Given the description of an element on the screen output the (x, y) to click on. 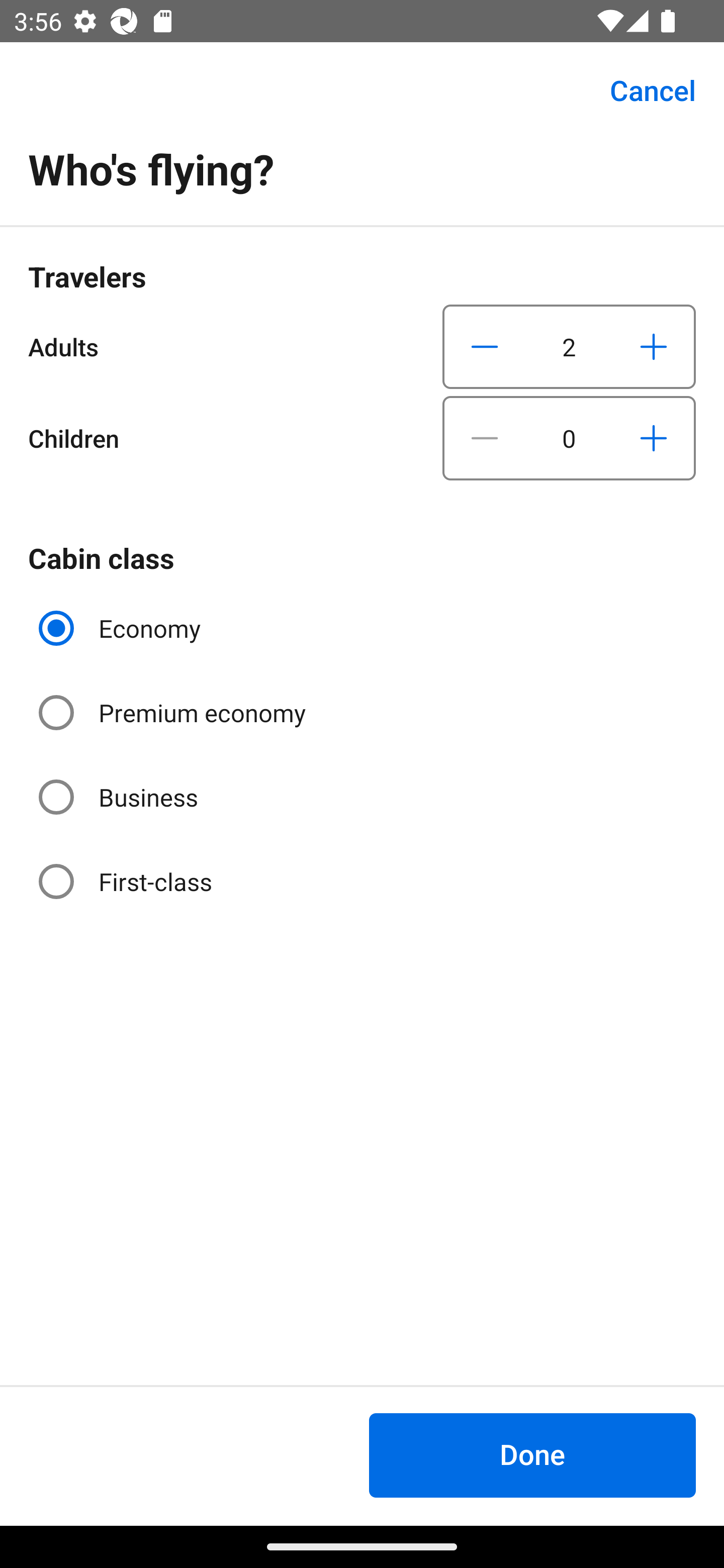
Cancel (641, 90)
Decrease (484, 346)
Increase (653, 346)
Decrease (484, 437)
Increase (653, 437)
Economy (121, 628)
Premium economy (174, 712)
Business (120, 796)
First-class (126, 880)
Done (532, 1454)
